Given the description of an element on the screen output the (x, y) to click on. 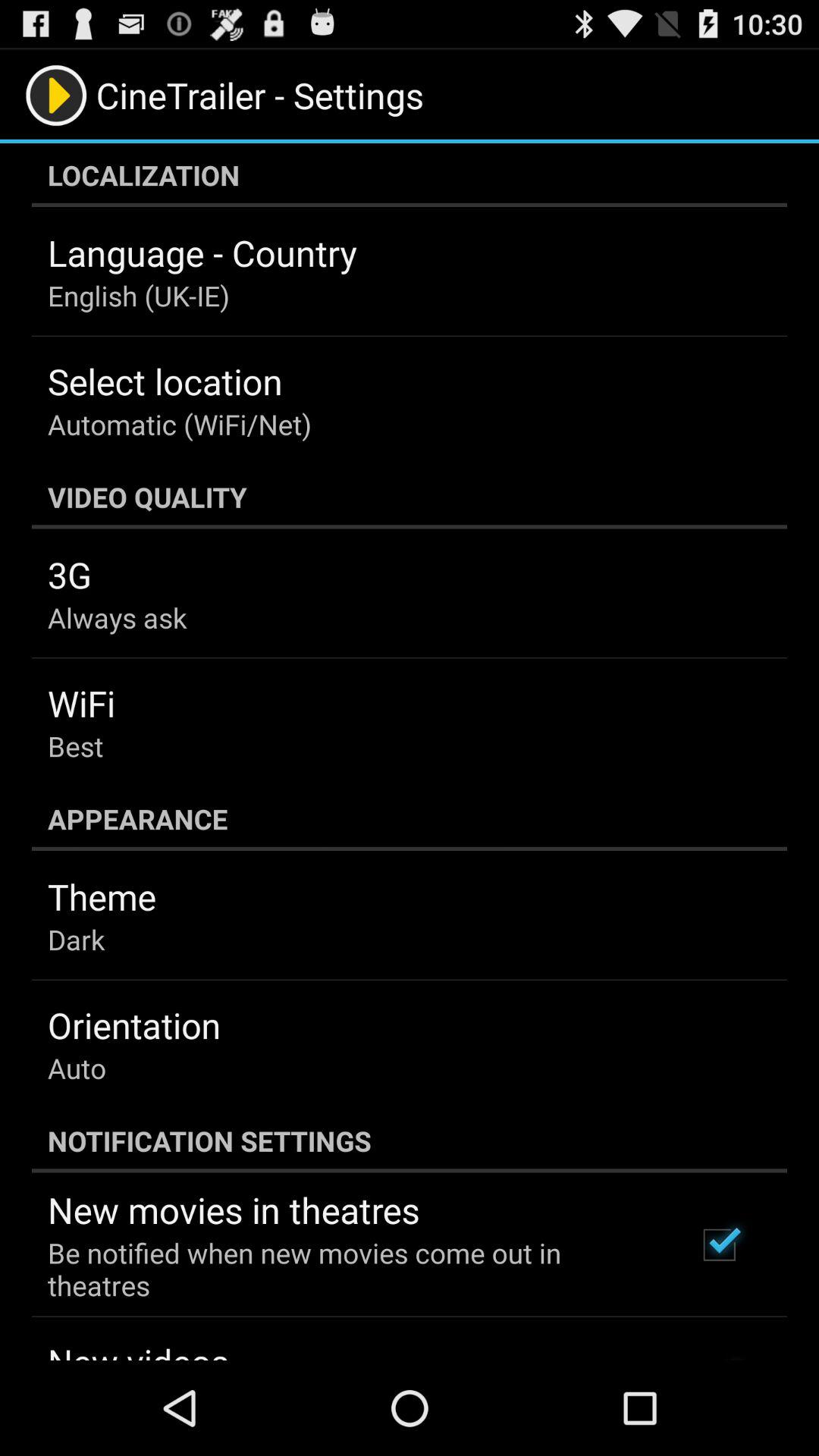
select the theme item (101, 896)
